Given the description of an element on the screen output the (x, y) to click on. 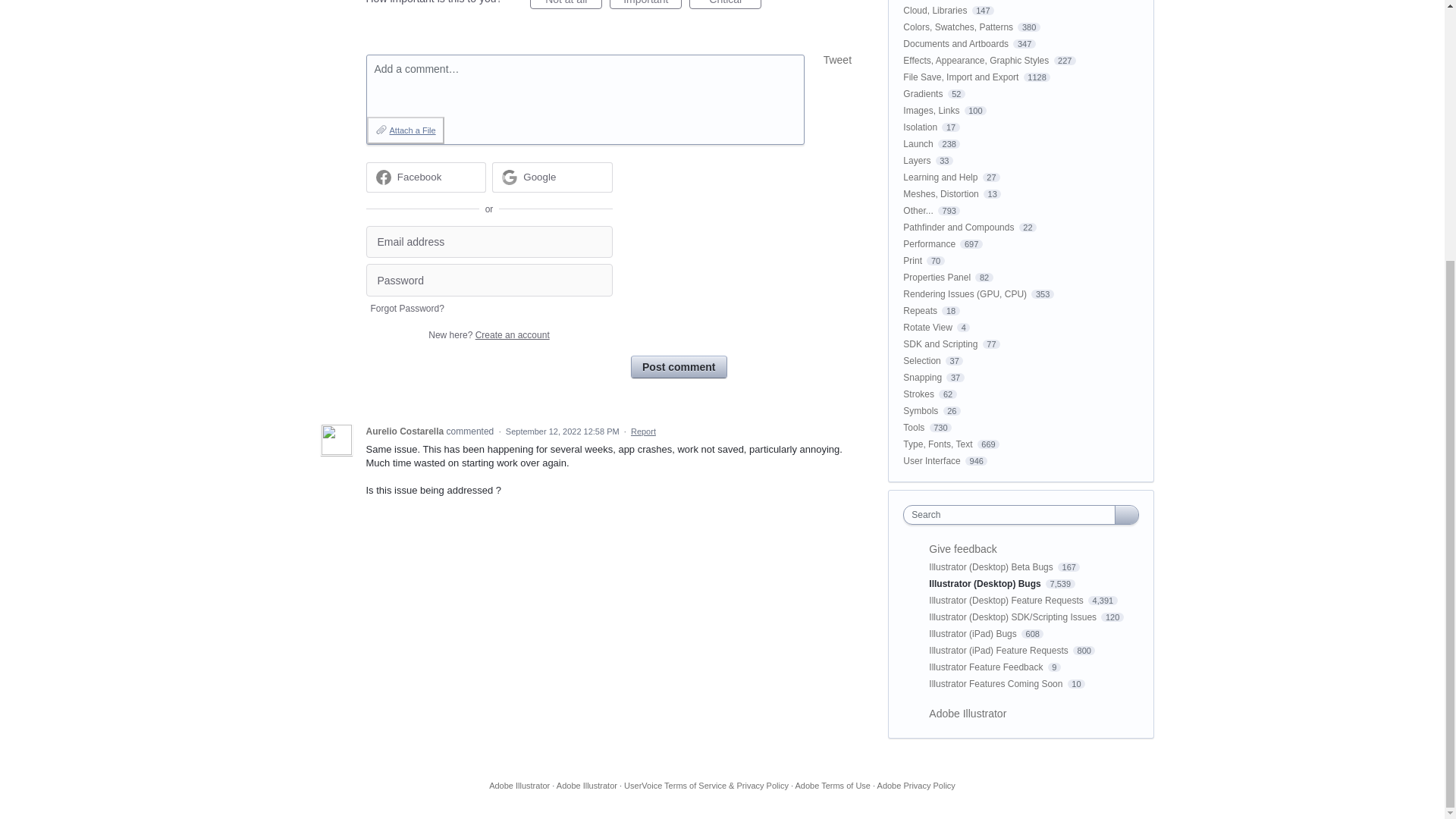
Facebook (419, 176)
Forgot Password? (406, 308)
Important (645, 4)
Not at all (565, 4)
New here? Create an account (488, 335)
Attach a File (405, 130)
Google (552, 177)
Google (539, 176)
Google sign in (552, 177)
Critical (724, 4)
Facebook sign in (425, 177)
Tweet (837, 60)
Facebook (425, 177)
